Given the description of an element on the screen output the (x, y) to click on. 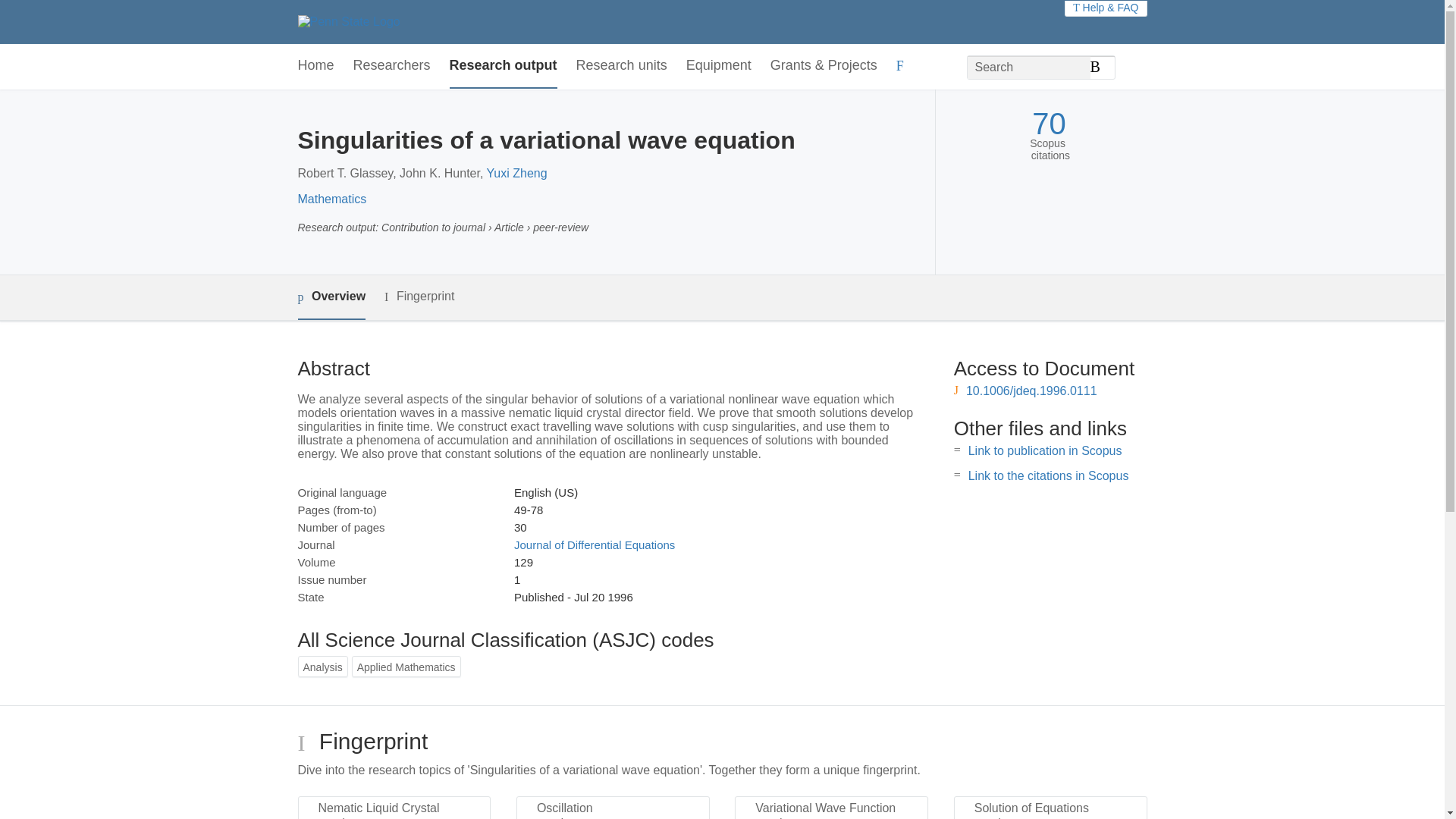
Link to publication in Scopus (1045, 450)
Research output (503, 66)
Equipment (718, 66)
Overview (331, 297)
Penn State Home (347, 21)
Fingerprint (419, 296)
Researchers (391, 66)
Research units (621, 66)
Yuxi Zheng (516, 173)
